Given the description of an element on the screen output the (x, y) to click on. 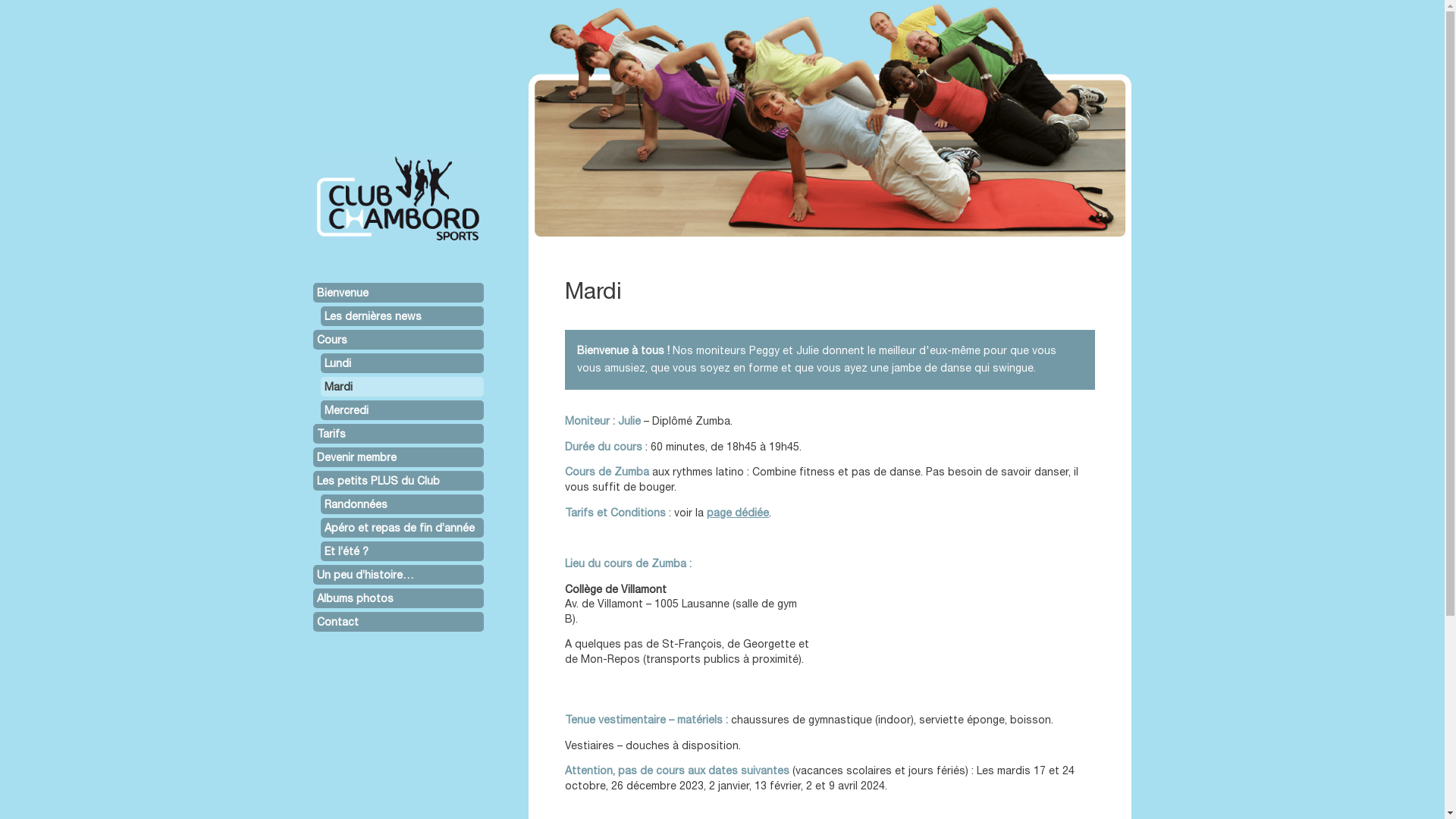
Les petits PLUS du Club Element type: text (397, 480)
Albums photos Element type: text (397, 598)
Cours Element type: text (397, 339)
Lundi Element type: text (401, 363)
Devenir membre Element type: text (397, 457)
Mardi Element type: text (401, 386)
Contact Element type: text (397, 621)
Bienvenue Element type: text (397, 292)
Mercredi Element type: text (401, 410)
Tarifs Element type: text (397, 433)
